Given the description of an element on the screen output the (x, y) to click on. 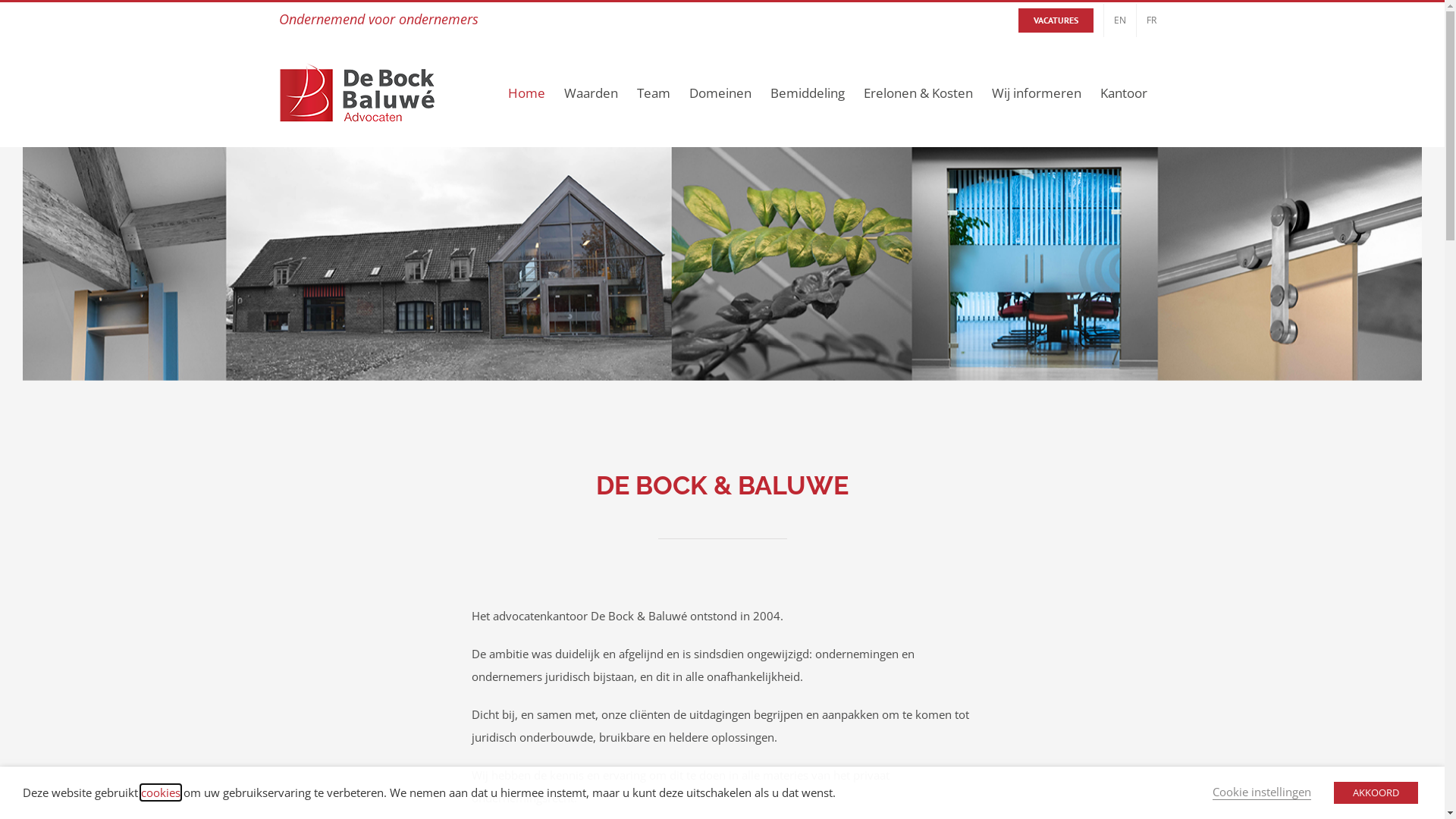
AKKOORD Element type: text (1375, 792)
Erelonen & Kosten Element type: text (917, 92)
FR Element type: text (1150, 19)
Cookie instellingen Element type: text (1261, 792)
Team Element type: text (653, 92)
Domeinen Element type: text (719, 92)
cookies Element type: text (160, 792)
Wij informeren Element type: text (1036, 92)
Kantoor Element type: text (1122, 92)
VACATURES Element type: text (1055, 19)
Home Element type: text (526, 92)
EN Element type: text (1119, 19)
Waarden Element type: text (591, 92)
Bemiddeling Element type: text (807, 92)
